Given the description of an element on the screen output the (x, y) to click on. 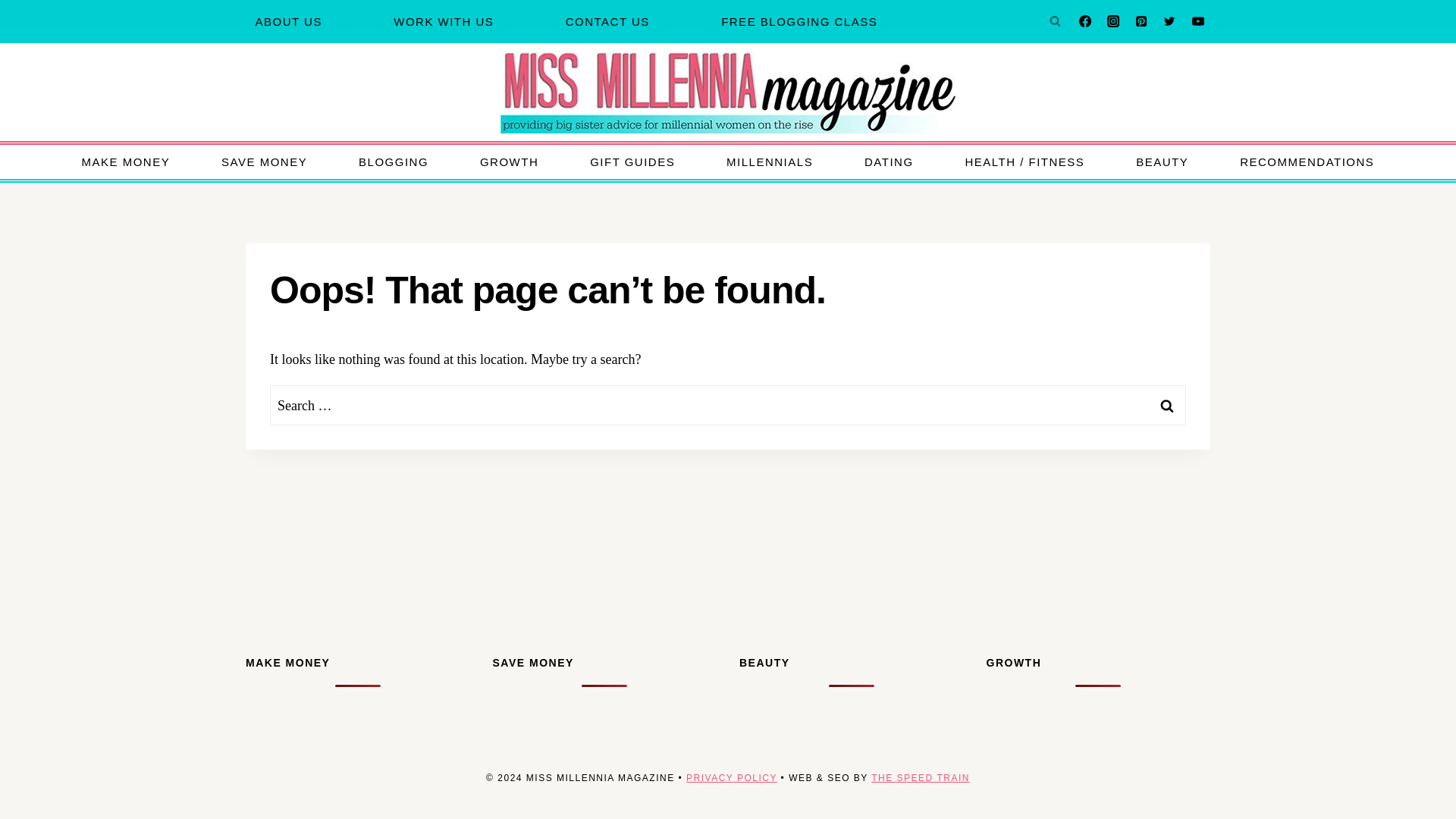
BEAUTY (1162, 161)
PRIVACY POLICY (731, 777)
BLOGGING (393, 161)
Search (1167, 404)
The Speed Train (919, 777)
MILLENNIALS (769, 161)
DATING (889, 161)
ABOUT US (288, 21)
MAKE MONEY (125, 161)
Search (1167, 404)
GIFT GUIDES (633, 161)
Search (1167, 404)
WORK WITH US (443, 21)
SAVE MONEY (264, 161)
CONTACT US (607, 21)
